Given the description of an element on the screen output the (x, y) to click on. 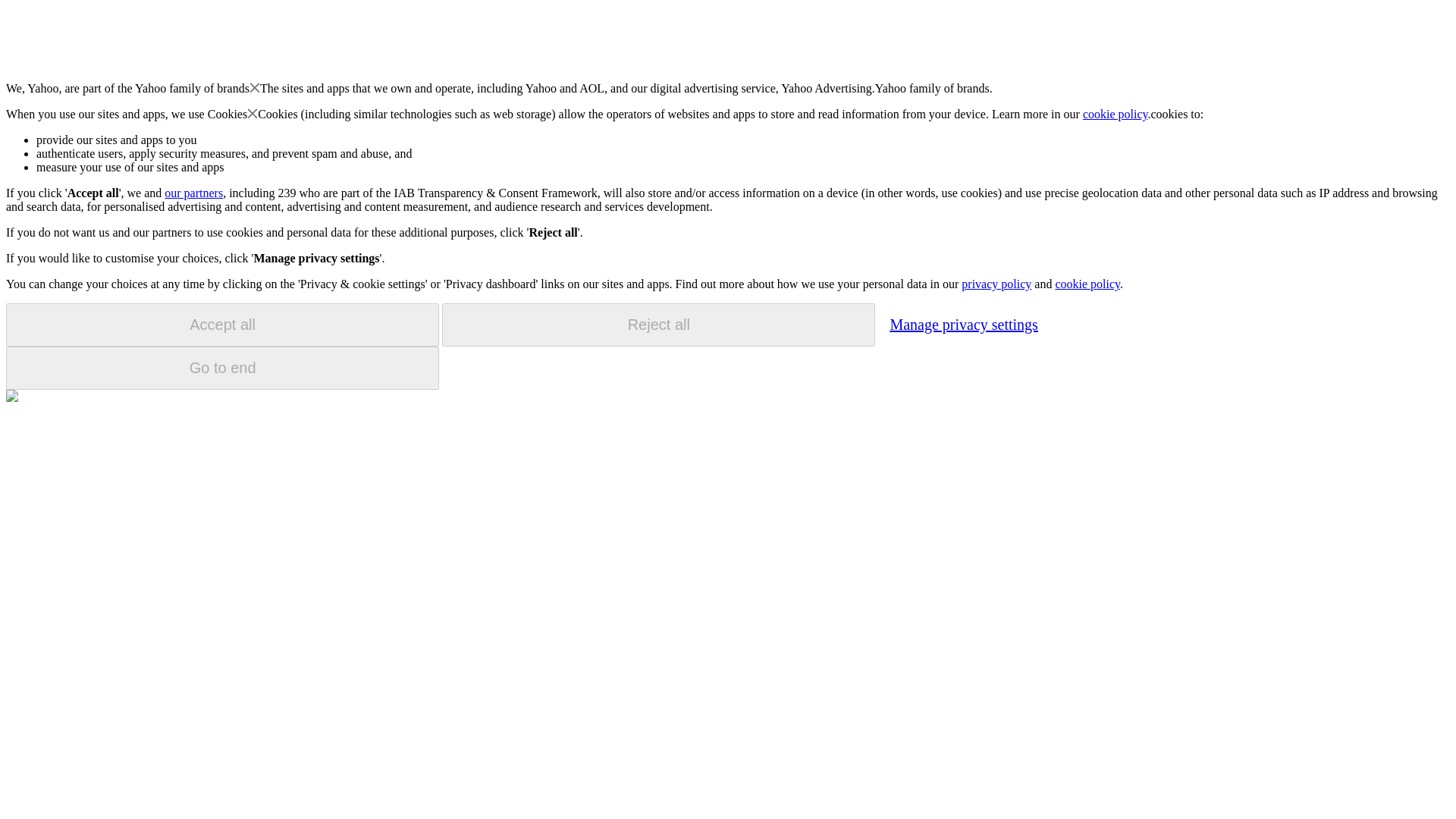
privacy policy (995, 283)
Go to end (222, 367)
Accept all (222, 324)
cookie policy (1115, 113)
Reject all (658, 324)
Manage privacy settings (963, 323)
our partners (193, 192)
cookie policy (1086, 283)
